Given the description of an element on the screen output the (x, y) to click on. 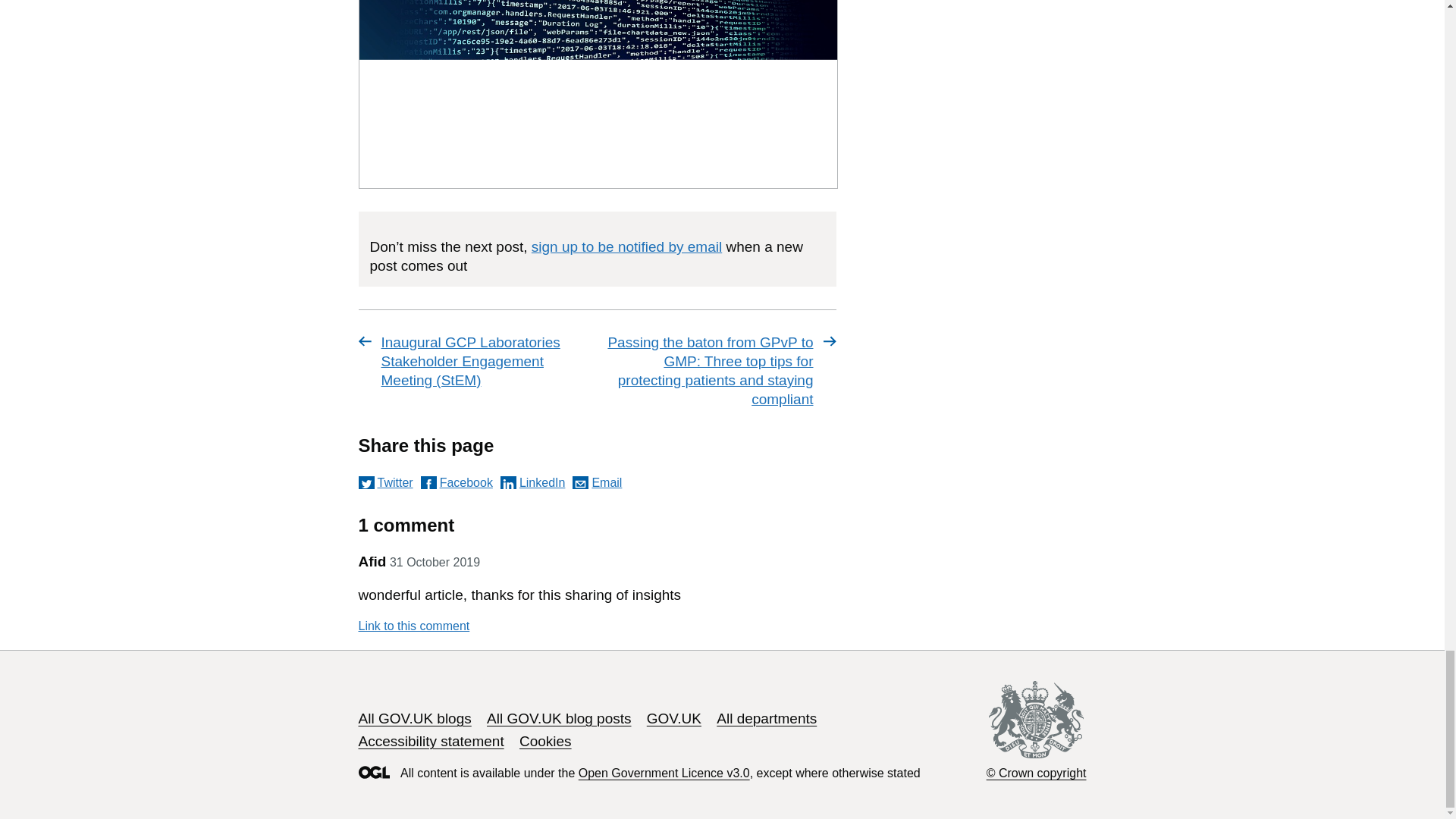
Email (596, 481)
Link to this comment (413, 626)
LinkedIn (533, 481)
sign up to be notified by email (626, 246)
Facebook (456, 481)
Twitter (385, 481)
